Given the description of an element on the screen output the (x, y) to click on. 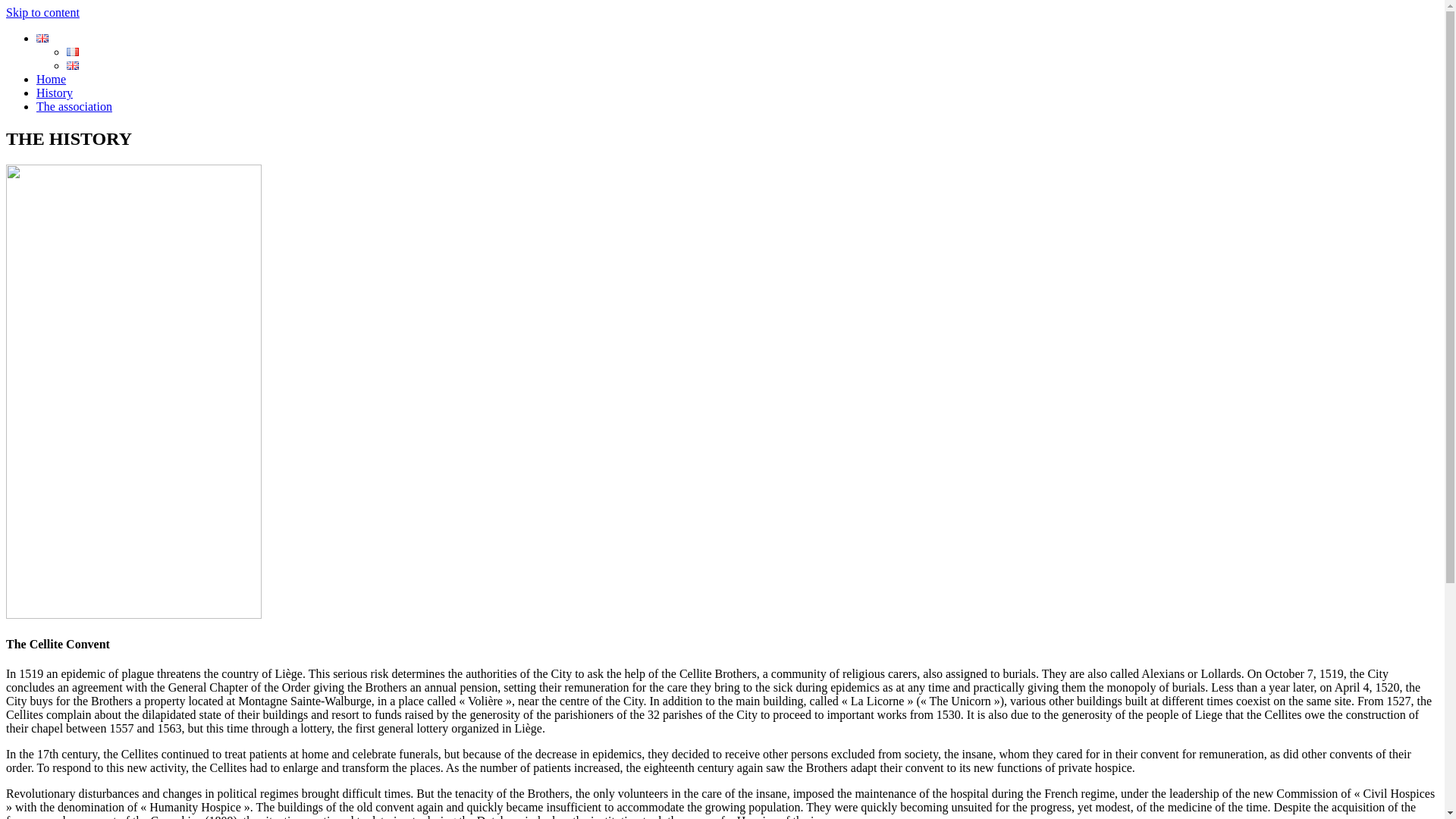
The association Element type: text (74, 106)
Home Element type: text (50, 78)
History Element type: text (54, 92)
Skip to content Element type: text (42, 12)
